Given the description of an element on the screen output the (x, y) to click on. 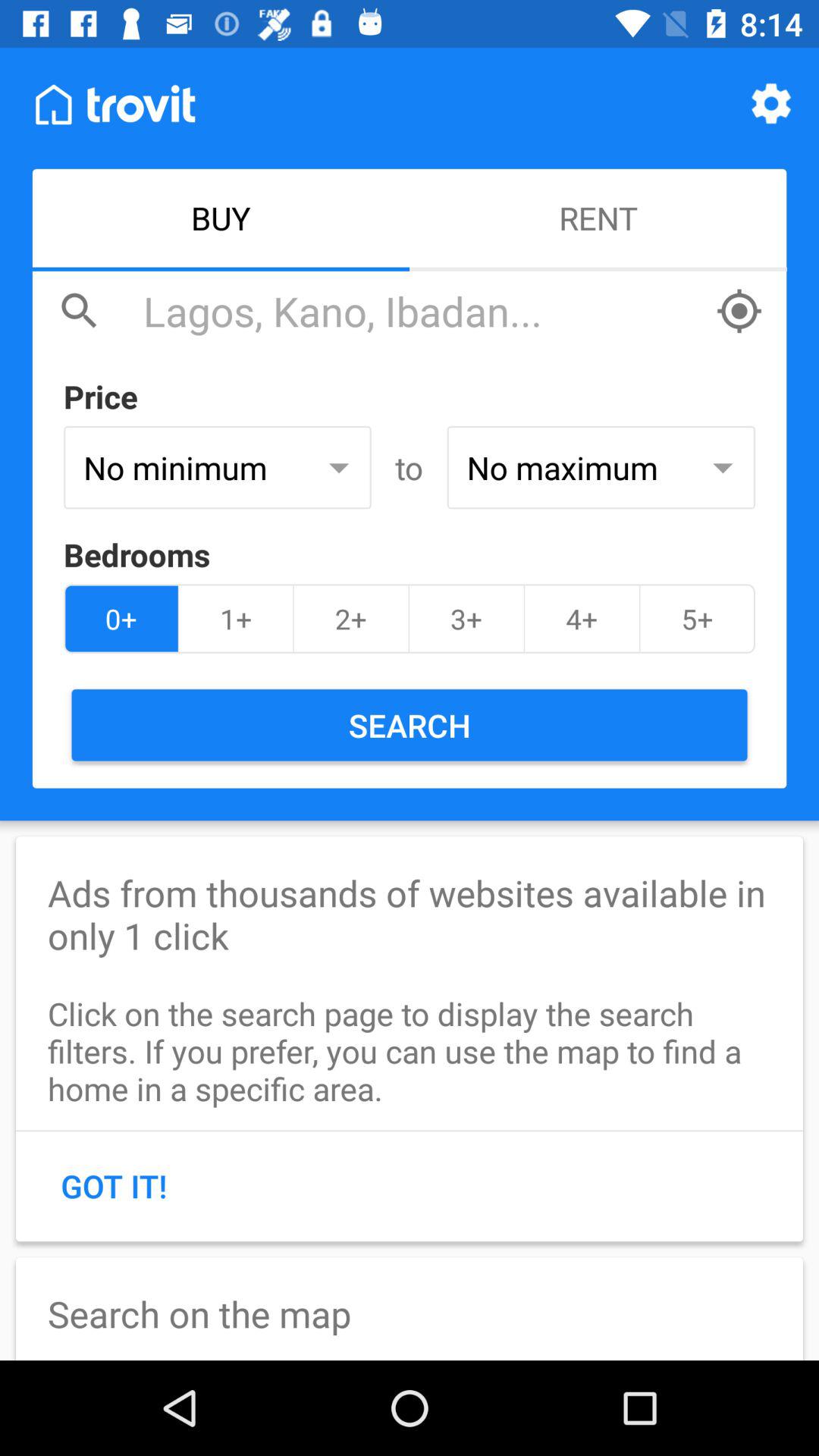
choose location (739, 310)
